Given the description of an element on the screen output the (x, y) to click on. 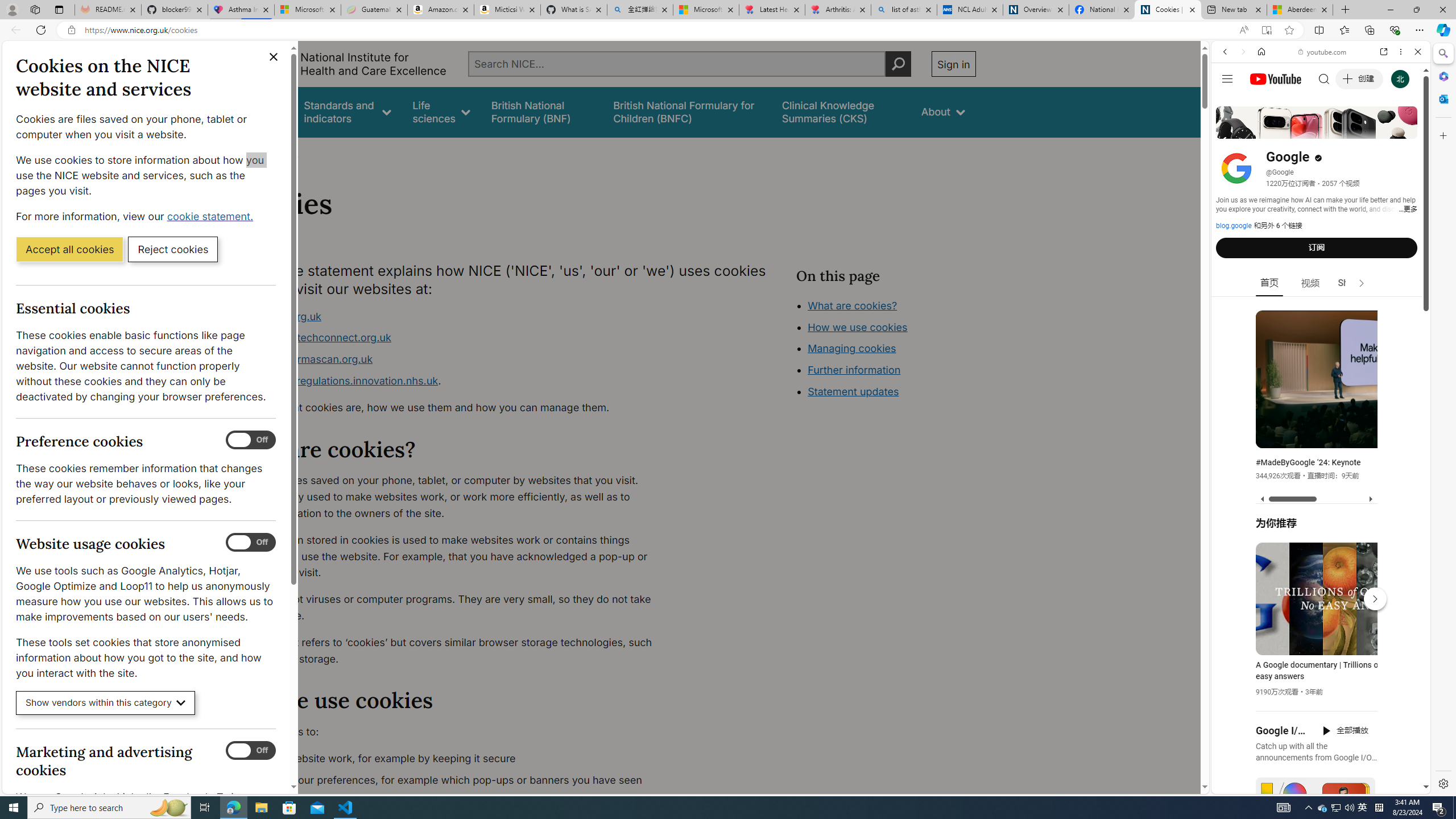
Music (1320, 309)
www.digitalregulations.innovation.nhs.uk (338, 380)
Asthma Inhalers: Names and Types (240, 9)
Show vendors within this category (105, 703)
AutomationID: right (1361, 283)
#you (1315, 659)
SEARCH TOOLS (1350, 130)
false (841, 111)
Shorts (1351, 283)
